Given the description of an element on the screen output the (x, y) to click on. 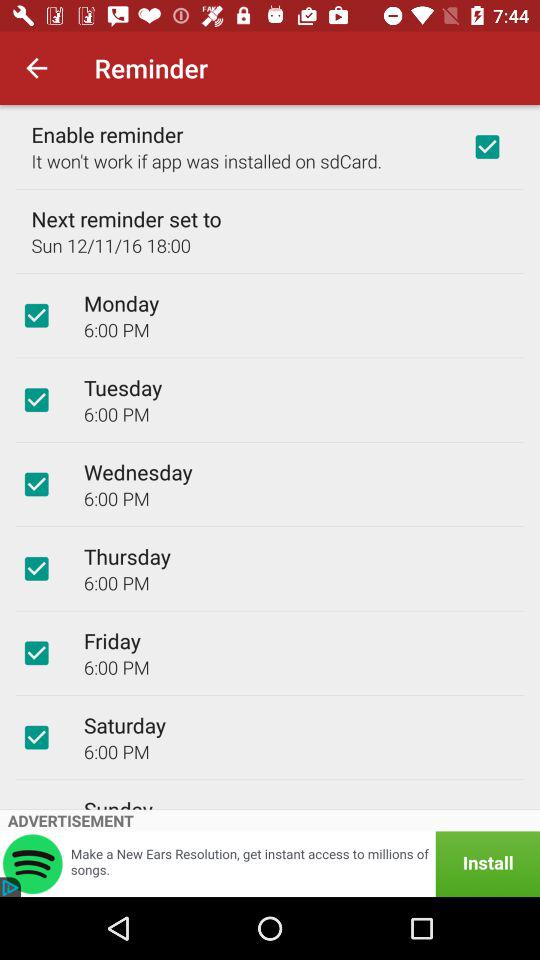
toggle day and time for reminder (36, 484)
